Given the description of an element on the screen output the (x, y) to click on. 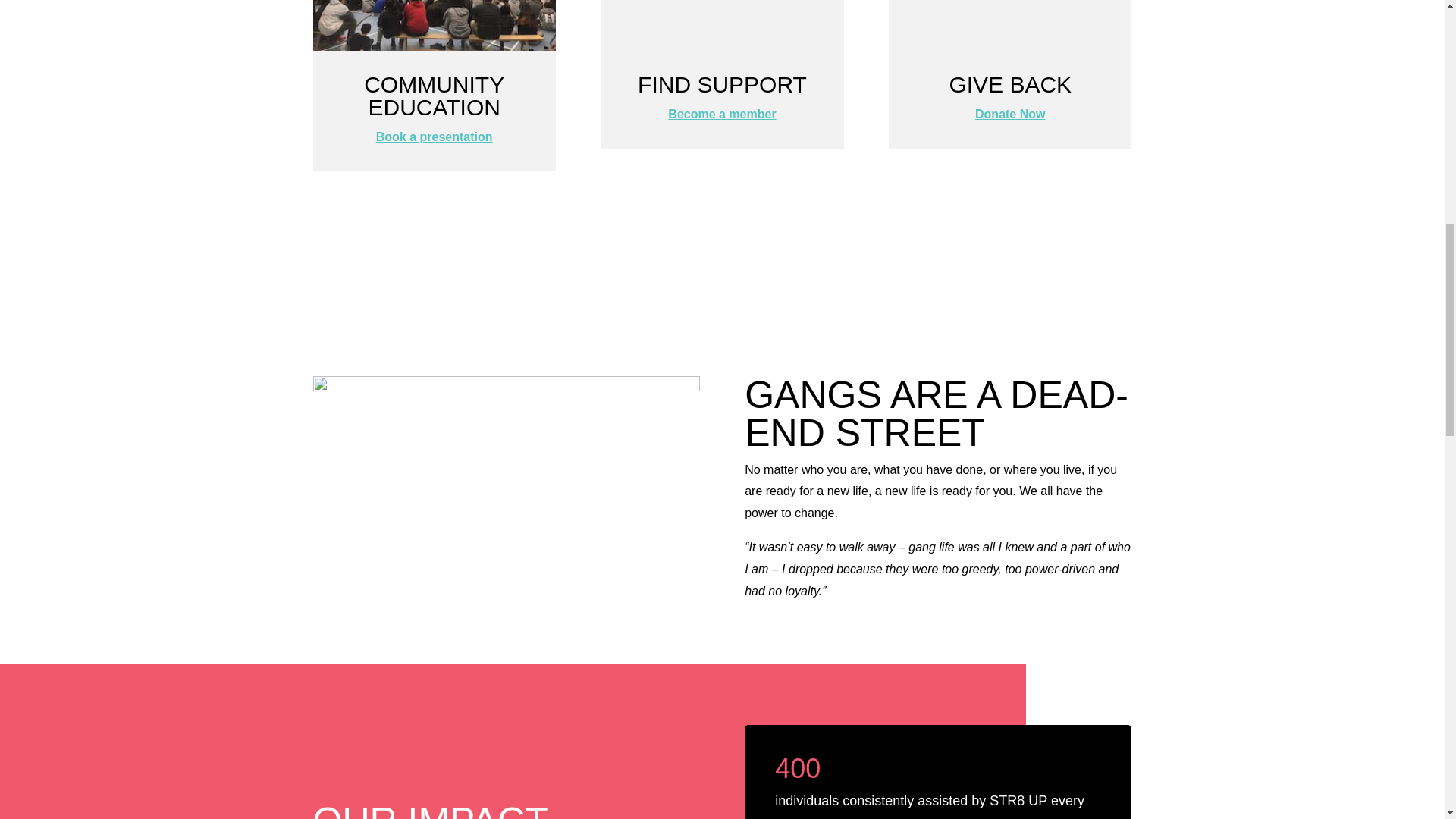
mathiasartwork 4 (505, 483)
Donate Now (1010, 113)
Book a presentation (434, 136)
give-back (1009, 25)
Become a member (722, 113)
